Given the description of an element on the screen output the (x, y) to click on. 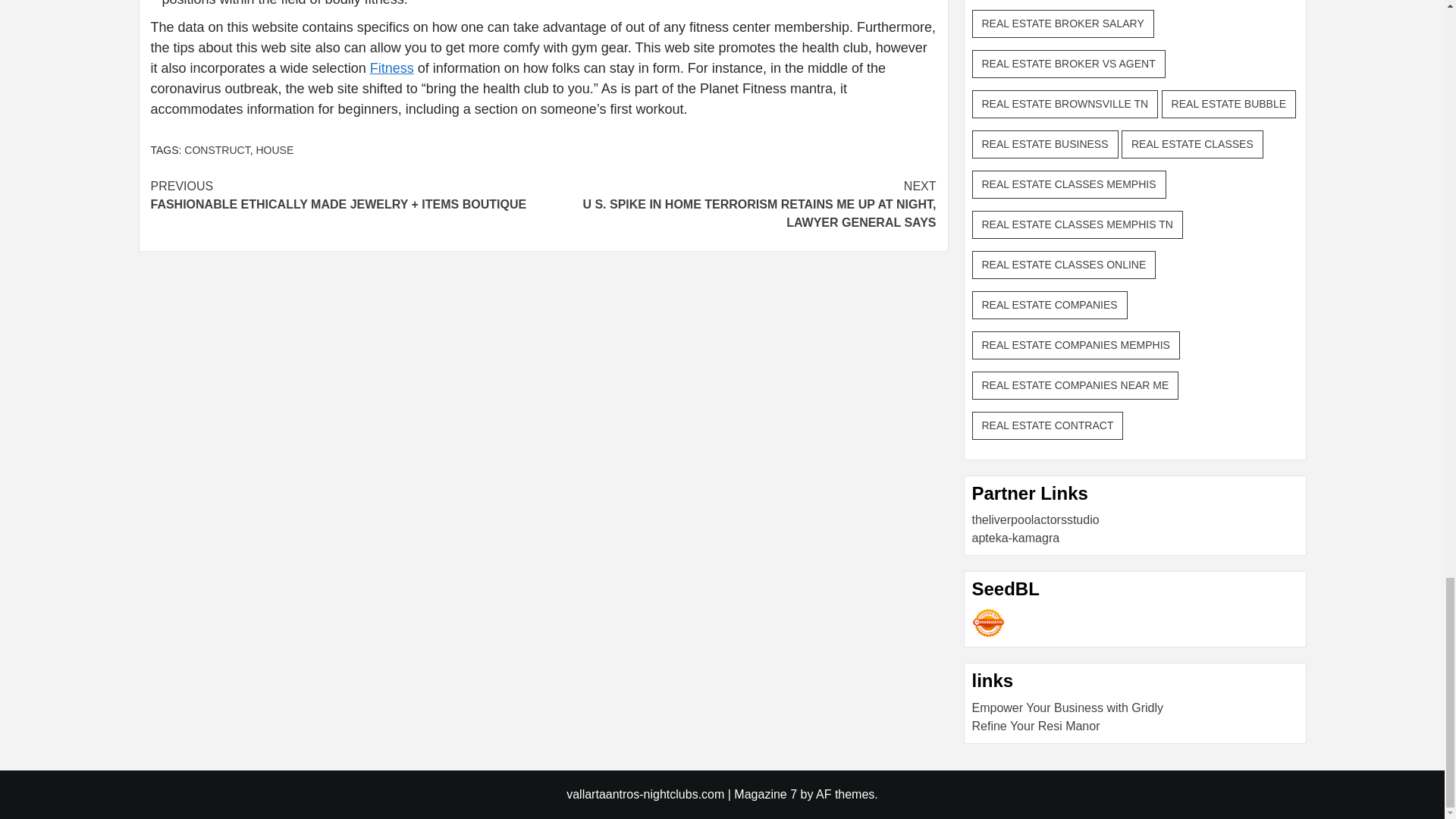
HOUSE (275, 150)
Seedbacklink (988, 622)
Fitness (391, 68)
CONSTRUCT (216, 150)
